Given the description of an element on the screen output the (x, y) to click on. 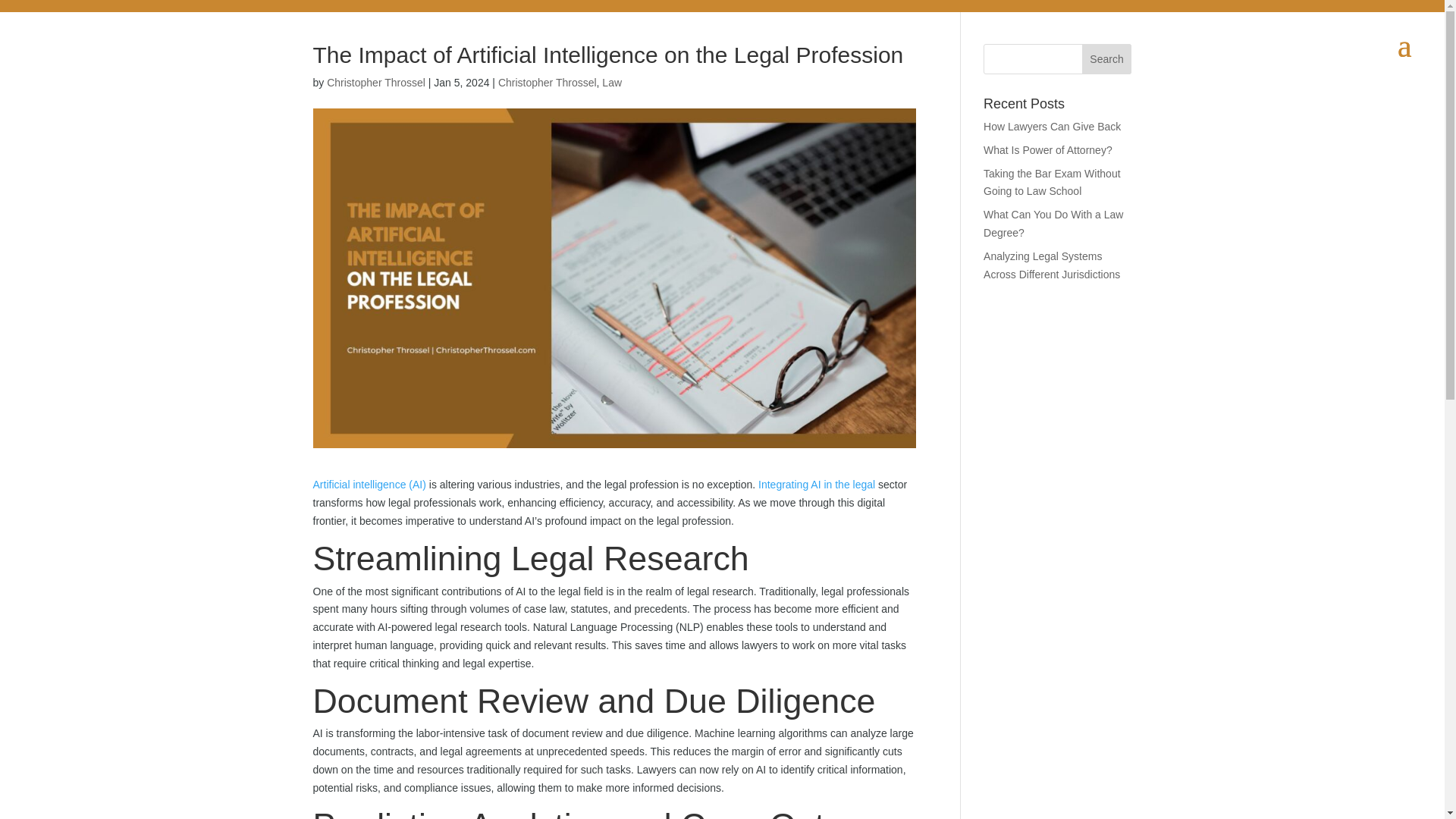
Law (611, 82)
Christopher Throssel (546, 82)
Taking the Bar Exam Without Going to Law School (1052, 182)
Posts by Christopher Throssel (375, 82)
Integrating AI in the legal (817, 484)
How Lawyers Can Give Back (1052, 126)
Search (1106, 59)
Search (1106, 59)
Christopher Throssel (375, 82)
What Is Power of Attorney? (1048, 150)
What Can You Do With a Law Degree? (1053, 223)
Analyzing Legal Systems Across Different Jurisdictions (1051, 265)
